Given the description of an element on the screen output the (x, y) to click on. 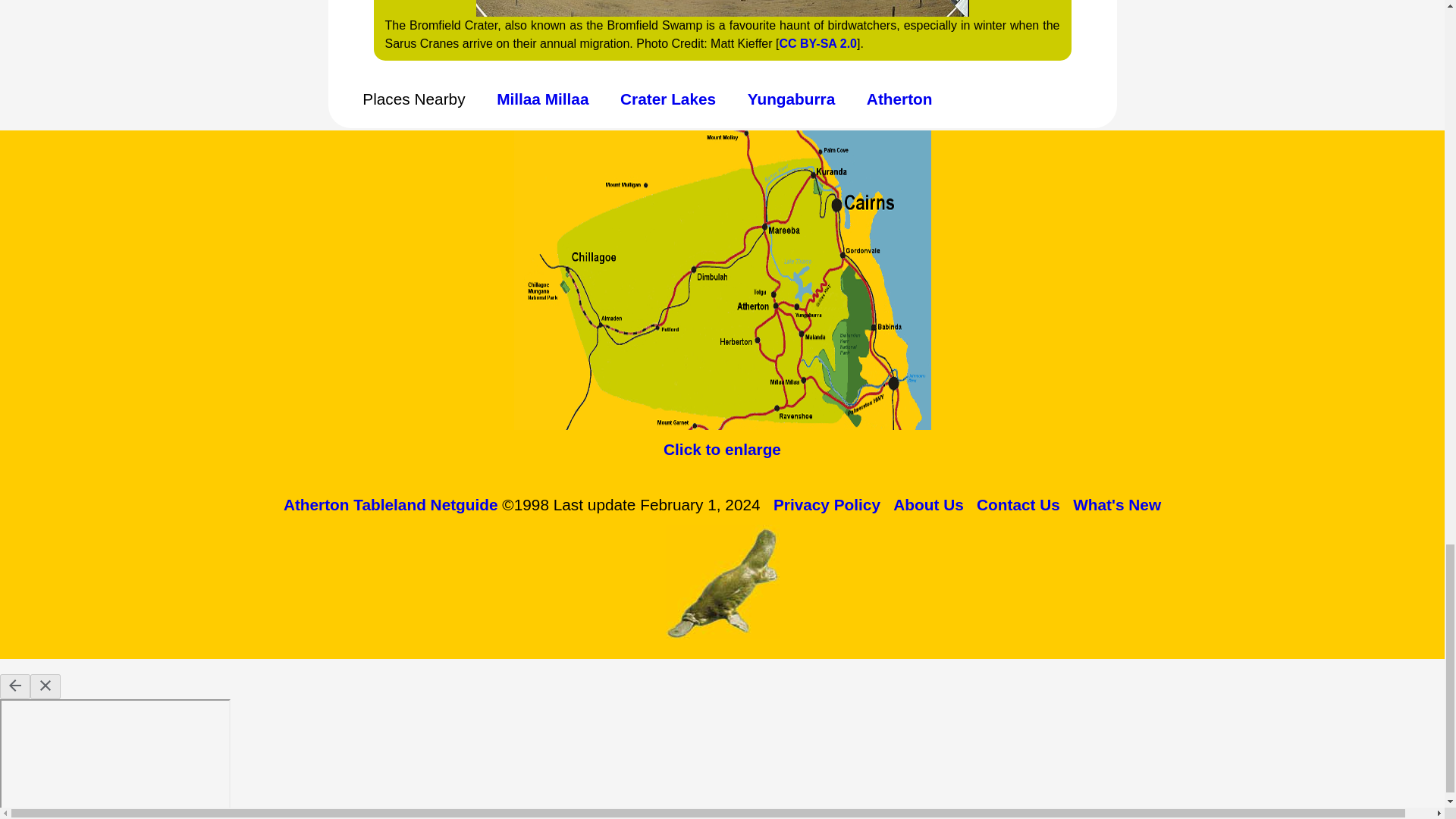
Contact Us (1017, 504)
Atherton Tableland Netguide (390, 504)
About Us (927, 504)
CC BY-SA 2.0 (817, 42)
Millaa Millaa (542, 98)
Privacy Policy (826, 504)
What's New (1116, 504)
Atherton (899, 98)
Crater Lakes (668, 98)
Click to enlarge (721, 448)
Yungaburra (791, 98)
